Given the description of an element on the screen output the (x, y) to click on. 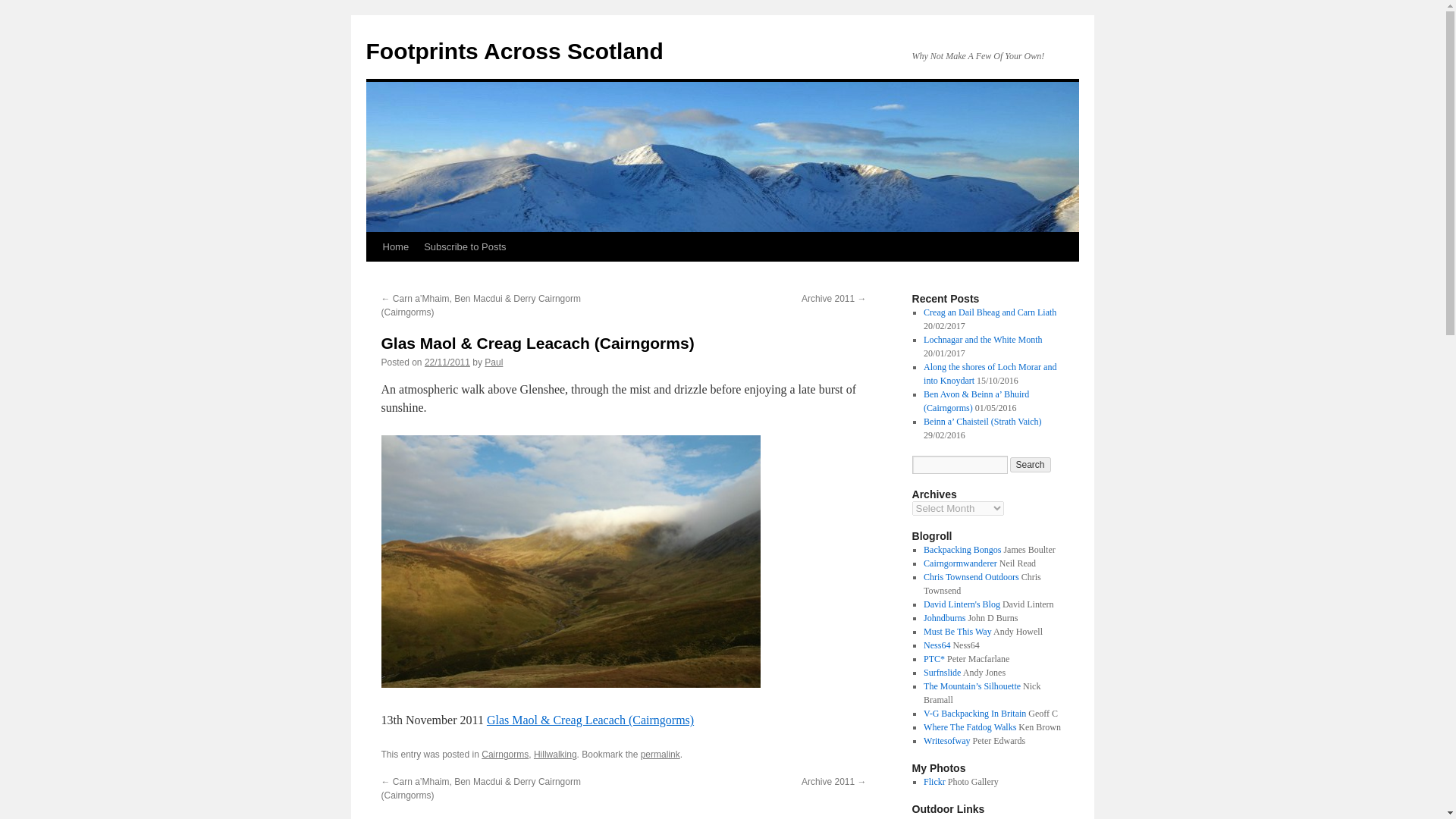
Backpacking Bongos (962, 549)
Along the shores of Loch Morar and into Knoydart (990, 373)
Home (395, 246)
Chris Townsend Outdoors (971, 576)
David Lintern's Blog (961, 603)
Search (1030, 464)
Footprints Across Scotland (513, 50)
Cairngorms (504, 754)
permalink (659, 754)
View all posts by Paul (493, 362)
